Given the description of an element on the screen output the (x, y) to click on. 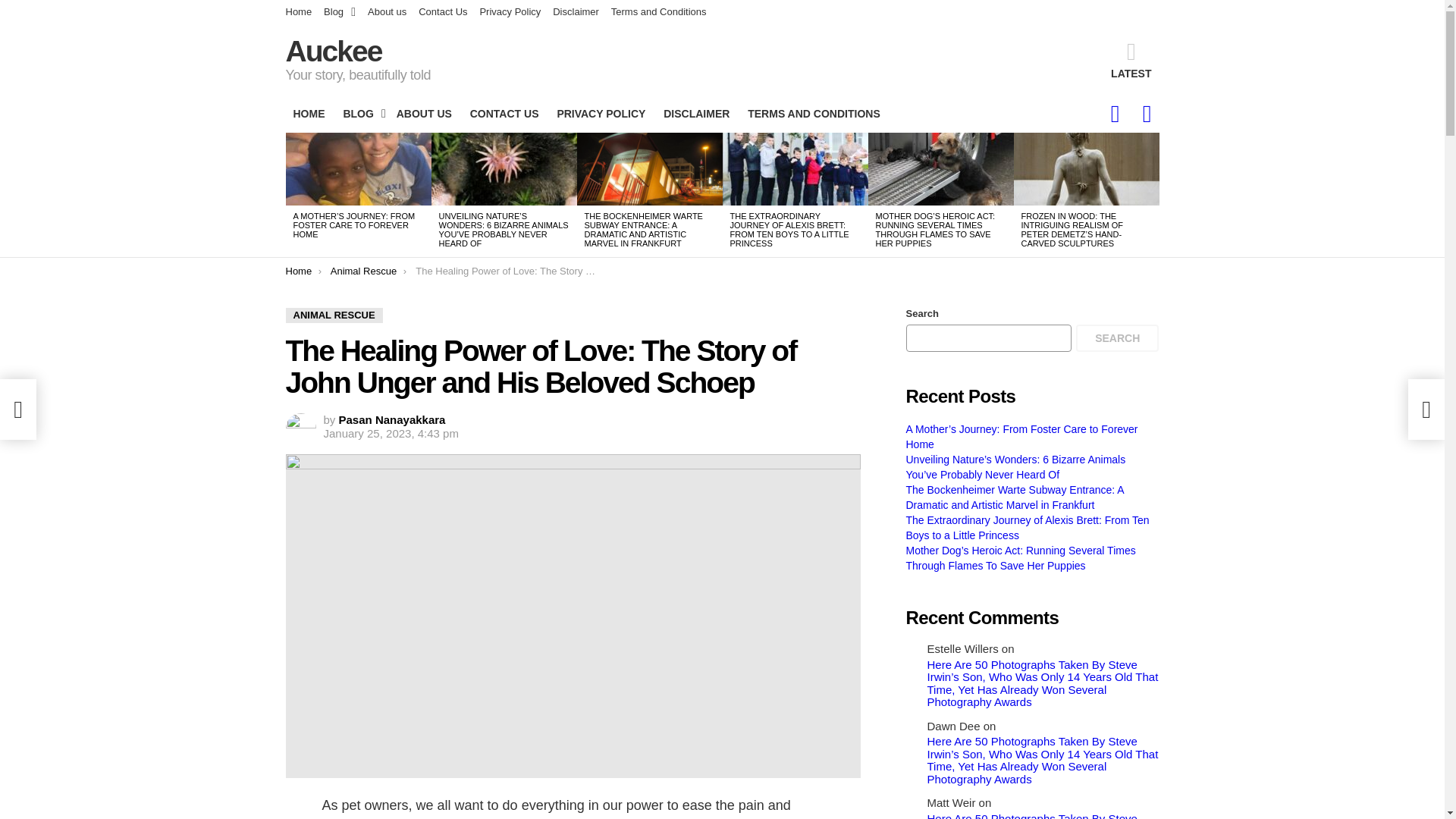
HOME (308, 113)
Auckee (333, 51)
Posts by Pasan Nanayakkara (392, 419)
Disclaimer (575, 12)
ABOUT US (424, 113)
Home (298, 12)
BLOG (359, 113)
